Given the description of an element on the screen output the (x, y) to click on. 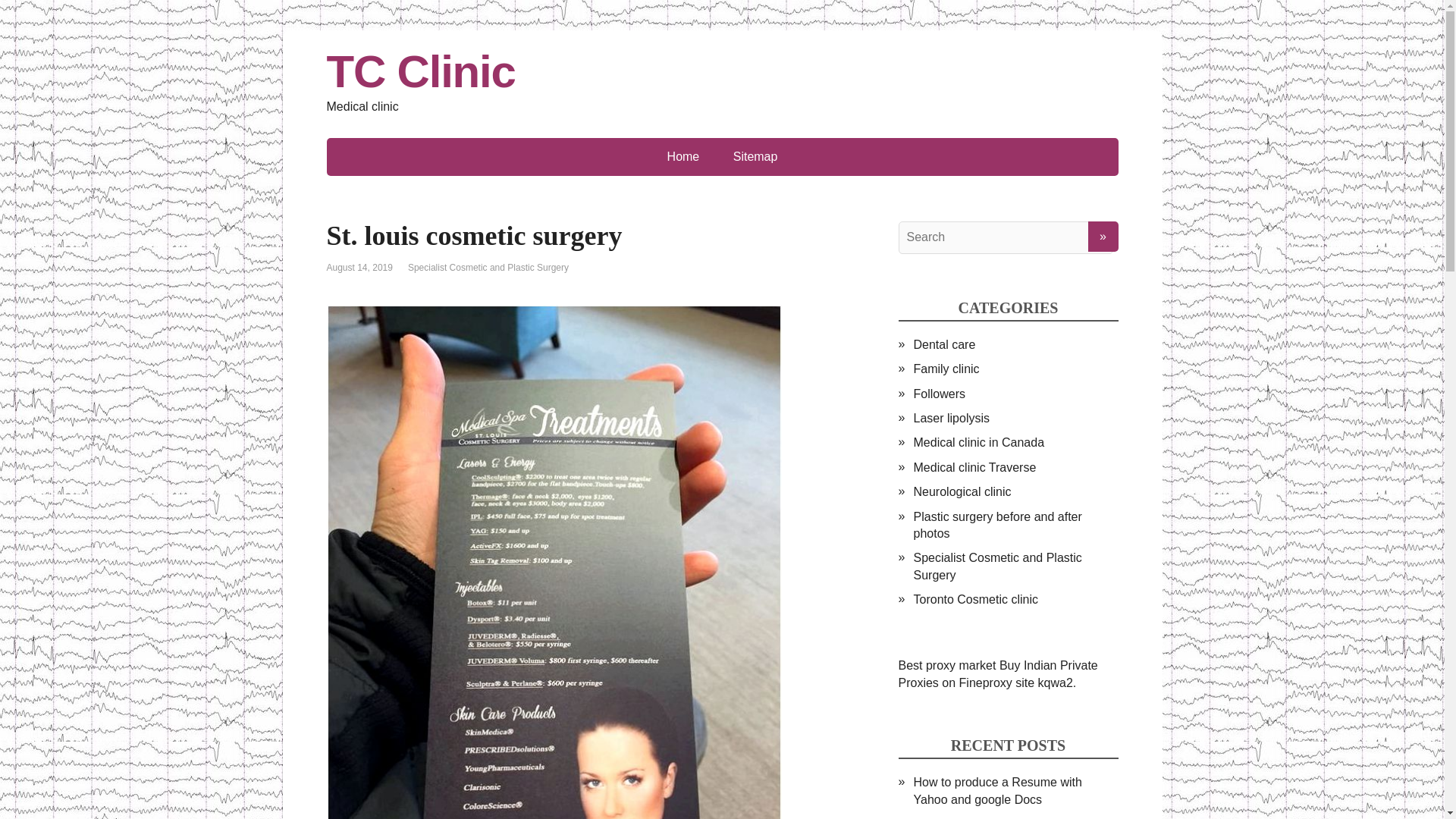
Followers (937, 393)
Medical clinic Traverse (973, 467)
Medical clinic in Canada (977, 441)
TC Clinic (722, 71)
Specialist Cosmetic and Plastic Surgery (996, 565)
How to produce a Resume with Yahoo and google Docs (996, 790)
Dental care (943, 344)
Laser lipolysis (950, 418)
Home (683, 157)
Sitemap (755, 157)
